Given the description of an element on the screen output the (x, y) to click on. 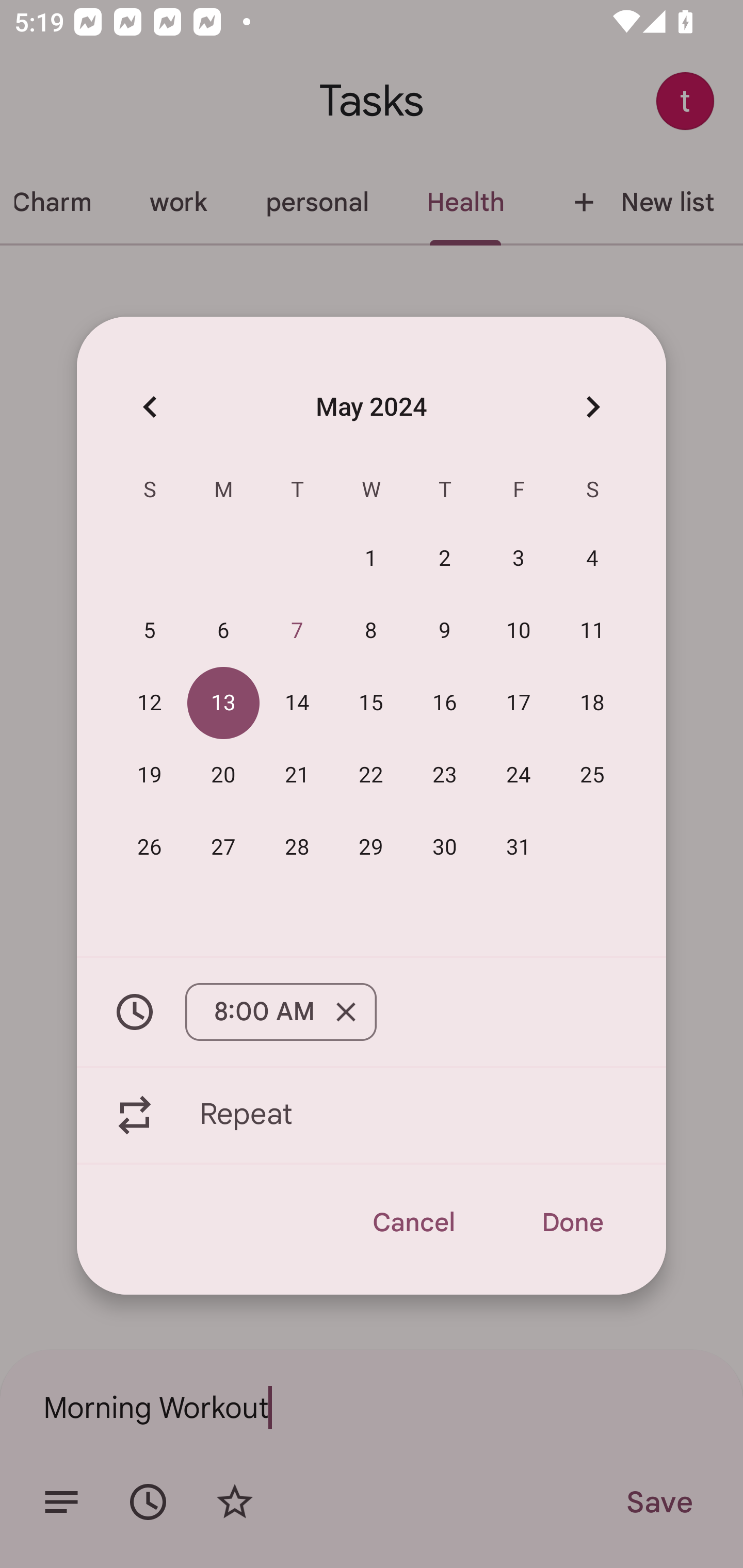
Previous month (149, 406)
Next month (592, 406)
1 01 May 2024 (370, 558)
2 02 May 2024 (444, 558)
3 03 May 2024 (518, 558)
4 04 May 2024 (592, 558)
5 05 May 2024 (149, 630)
6 06 May 2024 (223, 630)
7 07 May 2024 (297, 630)
8 08 May 2024 (370, 630)
9 09 May 2024 (444, 630)
10 10 May 2024 (518, 630)
11 11 May 2024 (592, 630)
12 12 May 2024 (149, 702)
13 13 May 2024 (223, 702)
14 14 May 2024 (297, 702)
15 15 May 2024 (370, 702)
16 16 May 2024 (444, 702)
17 17 May 2024 (518, 702)
18 18 May 2024 (592, 702)
19 19 May 2024 (149, 774)
20 20 May 2024 (223, 774)
21 21 May 2024 (297, 774)
22 22 May 2024 (370, 774)
23 23 May 2024 (444, 774)
24 24 May 2024 (518, 774)
25 25 May 2024 (592, 774)
26 26 May 2024 (149, 846)
27 27 May 2024 (223, 846)
28 28 May 2024 (297, 846)
29 29 May 2024 (370, 846)
30 30 May 2024 (444, 846)
31 31 May 2024 (518, 846)
8:00 AM Remove 8:00 AM (371, 1012)
8:00 AM Remove 8:00 AM (280, 1012)
Repeat (371, 1114)
Cancel (412, 1222)
Done (571, 1222)
